Given the description of an element on the screen output the (x, y) to click on. 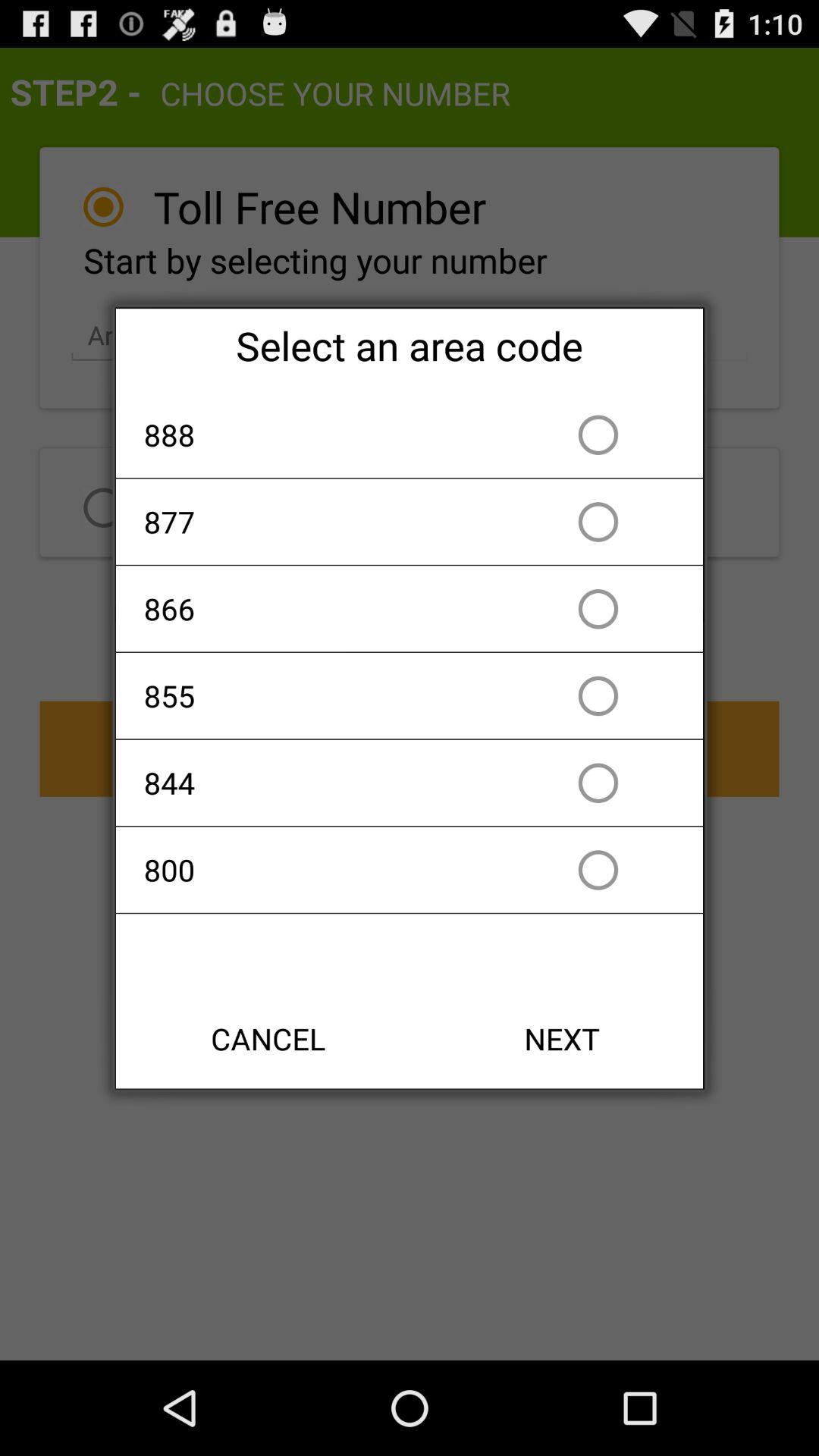
choose the 888 item (322, 434)
